Given the description of an element on the screen output the (x, y) to click on. 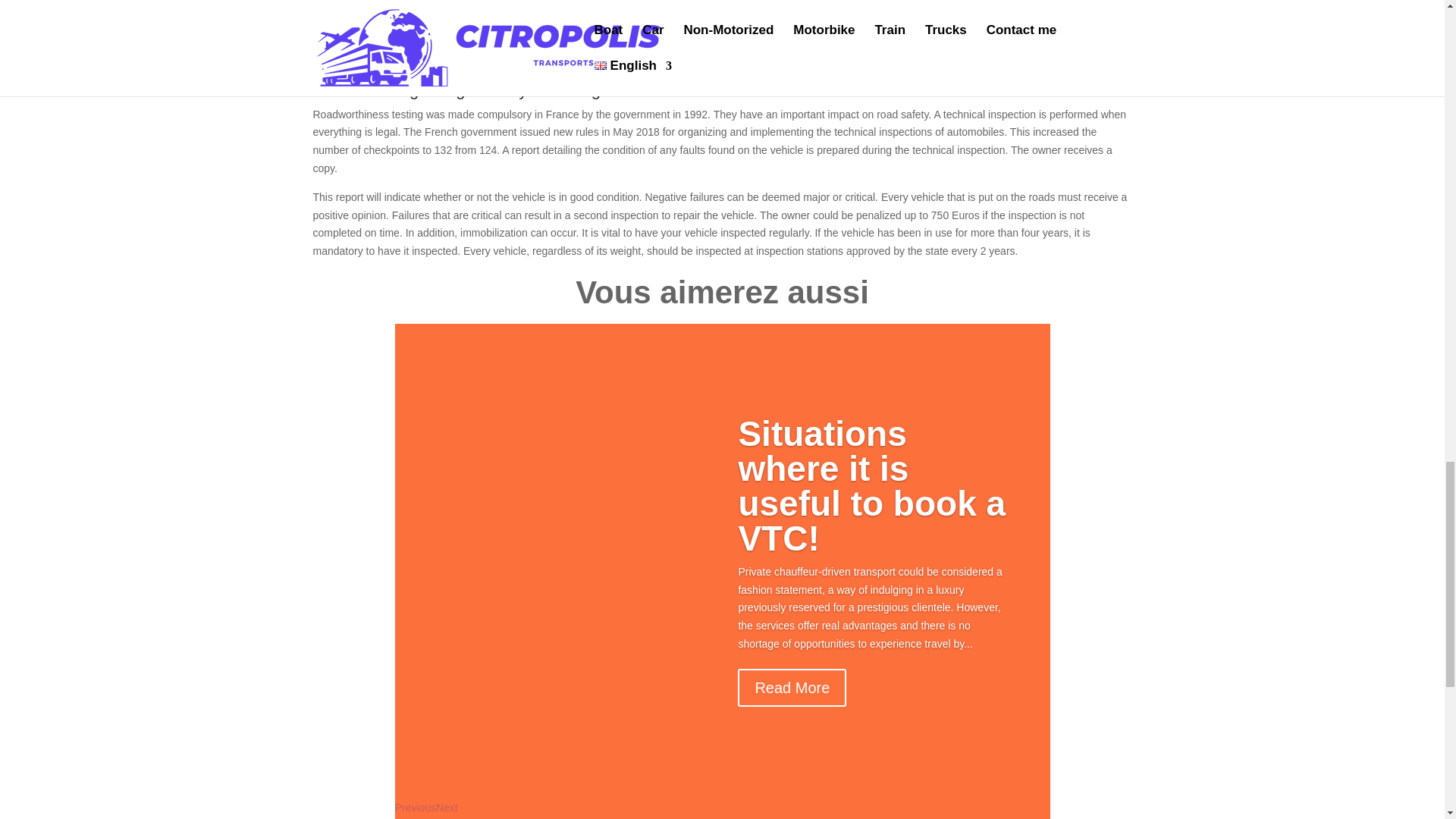
Read More (791, 687)
Next (446, 806)
Situations where it is useful to book a VTC! (872, 485)
Previous (414, 806)
